Given the description of an element on the screen output the (x, y) to click on. 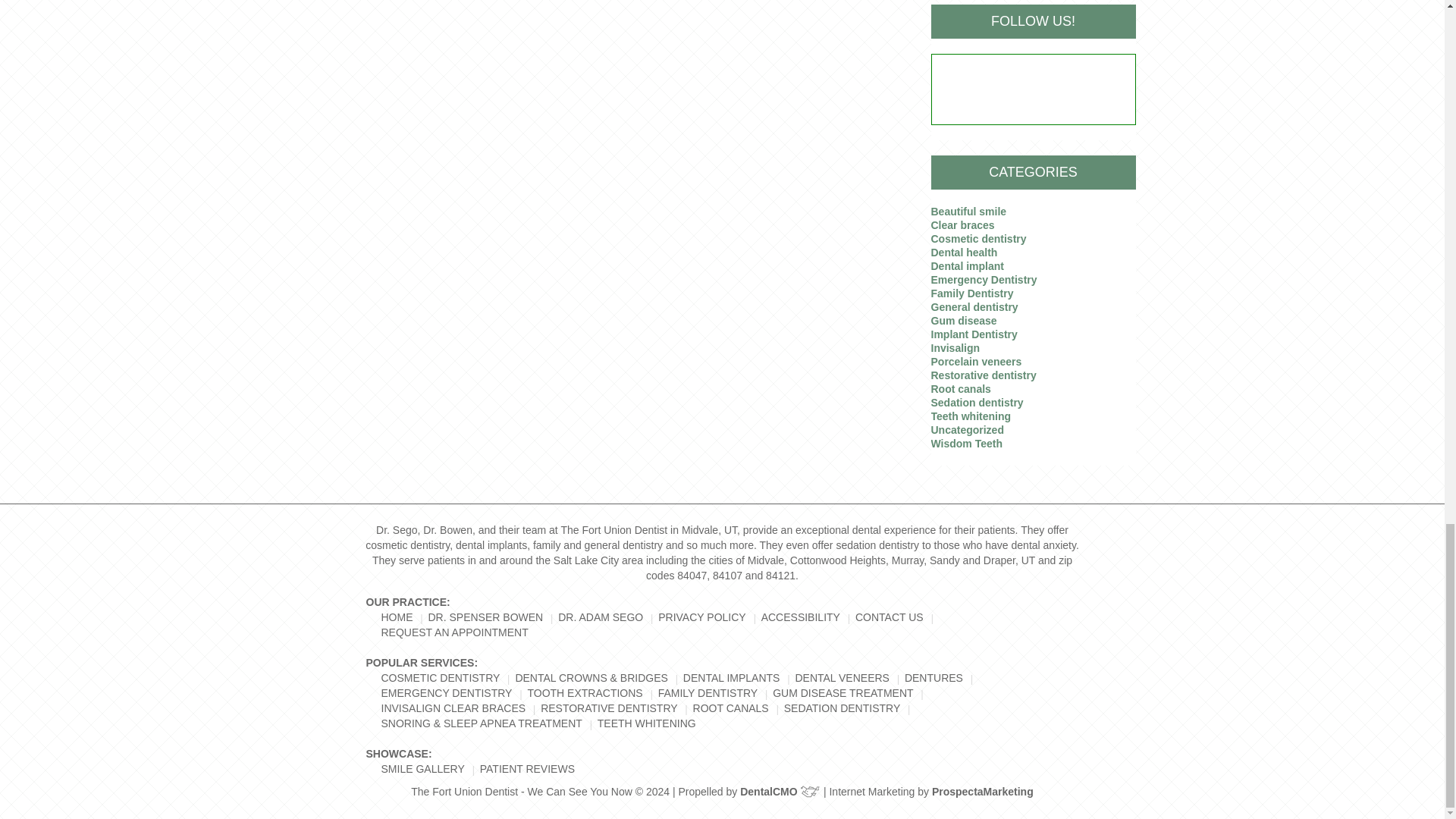
Internet Dental Marketing (982, 791)
Follow Us on Instagram (1045, 88)
Follow Us on Facebook (1019, 88)
